Given the description of an element on the screen output the (x, y) to click on. 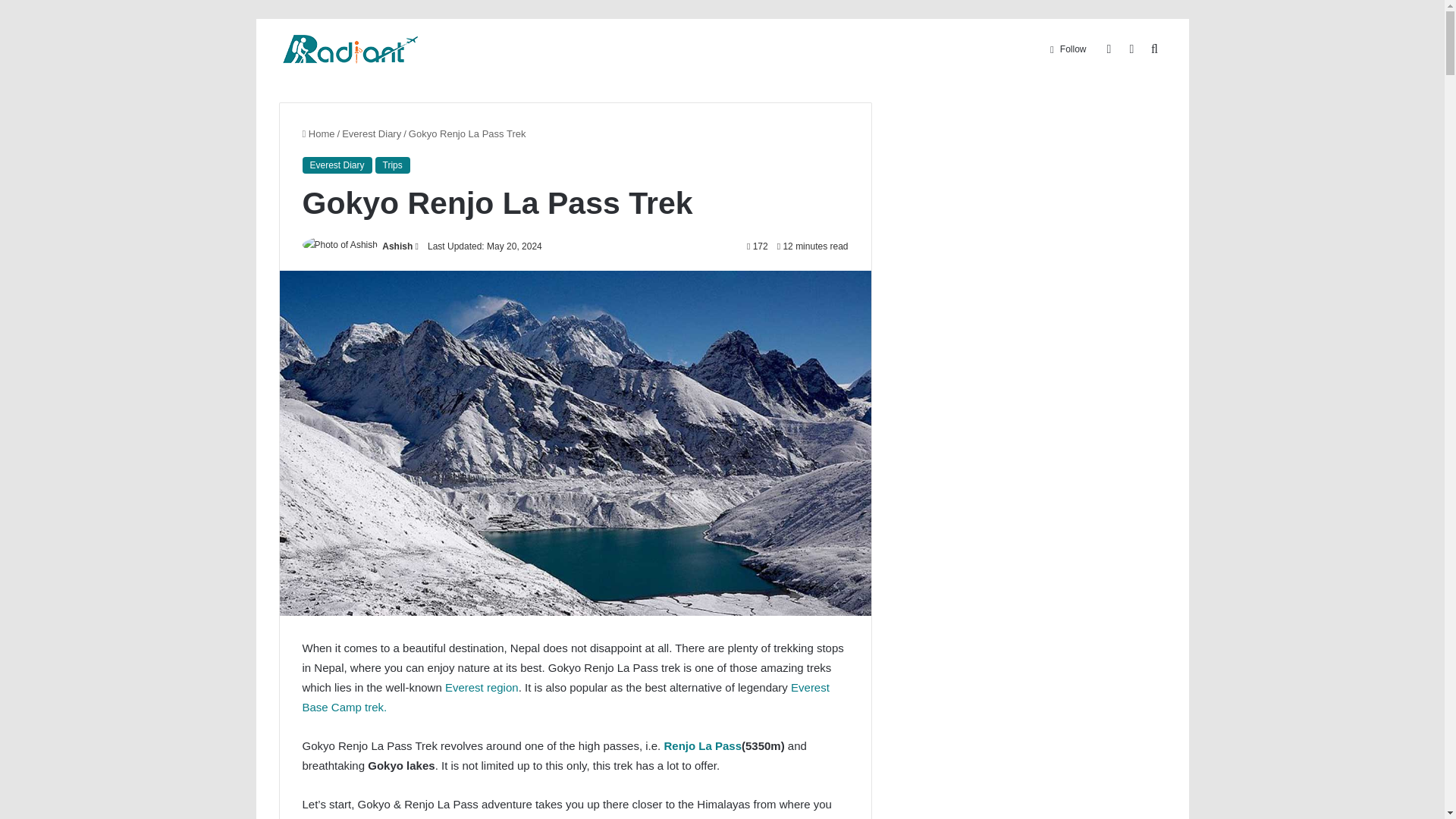
Trips (392, 165)
Everest Diary (336, 165)
Mt Lhotse, (677, 818)
Everest region (481, 686)
Follow (1068, 48)
Ashish (396, 245)
TrekEBC (350, 48)
Home (317, 133)
Everest Diary (371, 133)
Mt Everest (618, 818)
Everest Base Camp trek. (564, 696)
Ashish (396, 245)
Renjo La Pass (702, 745)
